Given the description of an element on the screen output the (x, y) to click on. 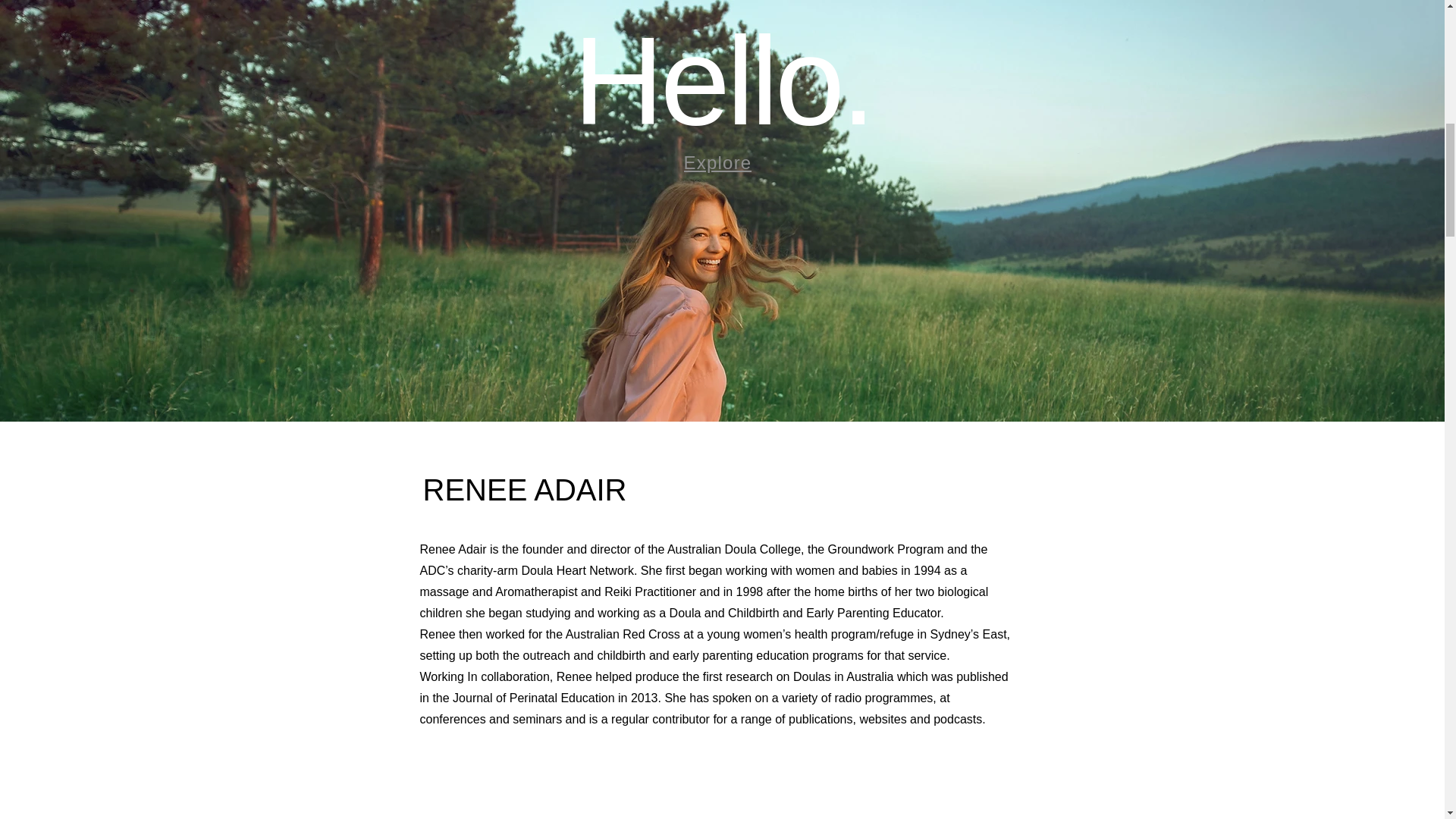
Explore (719, 163)
